Given the description of an element on the screen output the (x, y) to click on. 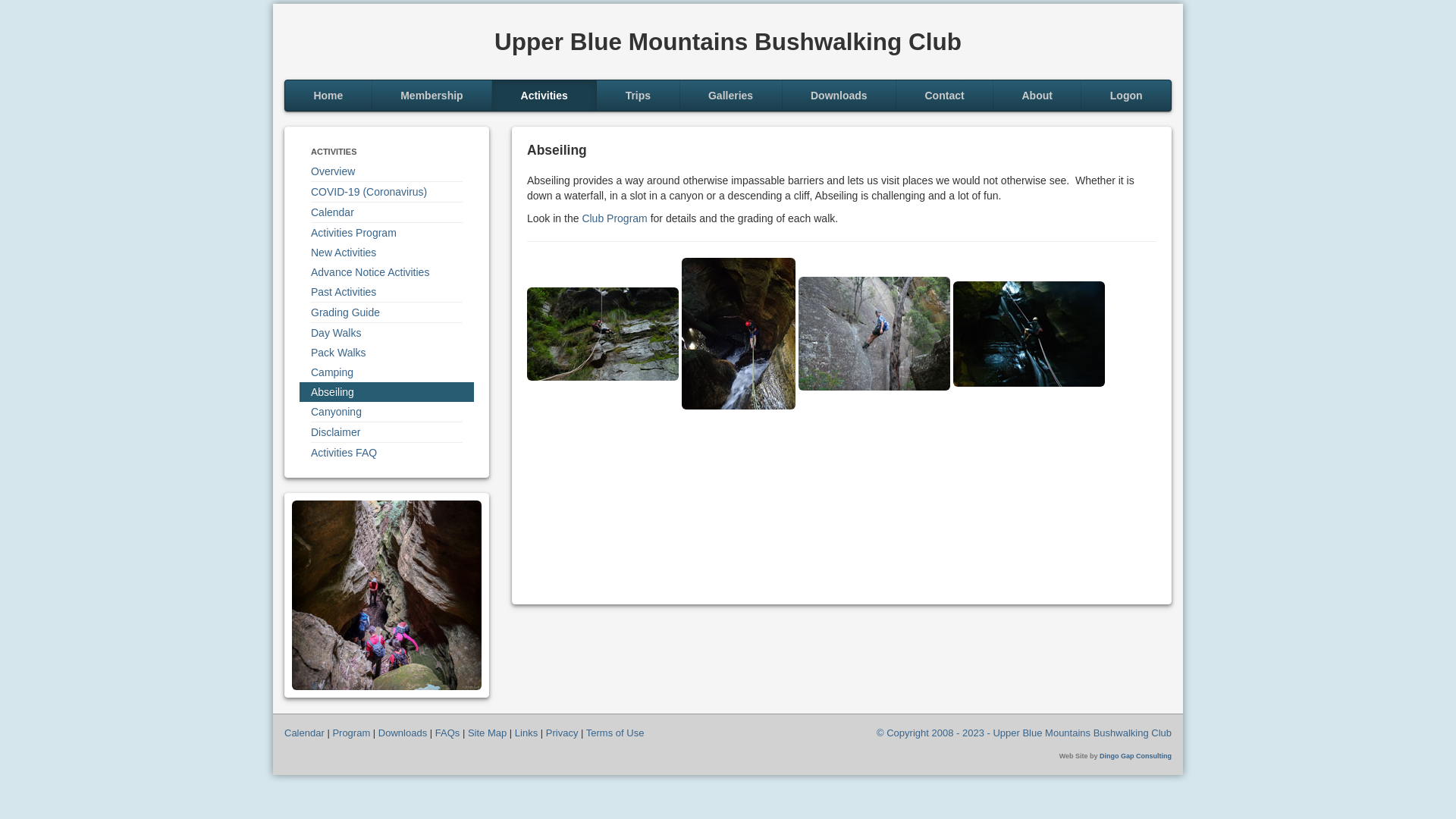
Activities FAQ Element type: text (386, 452)
Advance Notice Activities Element type: text (386, 272)
About Element type: text (1037, 95)
Galleries Element type: text (731, 95)
Downloads Element type: text (839, 95)
Canyoning Element type: text (386, 411)
Abseiling Element type: text (386, 391)
Calendar Element type: text (304, 732)
Activities Program Element type: text (386, 232)
Activities Element type: text (544, 95)
Calendar Element type: text (386, 212)
Club Program Element type: text (613, 218)
Pack Walks Element type: text (386, 352)
Privacy Element type: text (562, 732)
Disclaimer Element type: text (386, 432)
Grading Guide Element type: text (386, 312)
Past Activities Element type: text (386, 291)
Home Element type: text (328, 95)
Links Element type: text (525, 732)
Day Walks Element type: text (386, 332)
Site Map Element type: text (486, 732)
Trips Element type: text (637, 95)
New Activities Element type: text (386, 252)
Downloads Element type: text (402, 732)
Logon Element type: text (1125, 95)
Terms of Use Element type: text (615, 732)
Camping Element type: text (386, 372)
COVID-19 (Coronavirus) Element type: text (386, 191)
Overview Element type: text (386, 171)
Dingo Gap Consulting Element type: text (1135, 755)
FAQs Element type: text (447, 732)
Contact Element type: text (944, 95)
Membership Element type: text (432, 95)
Program Element type: text (351, 732)
